Given the description of an element on the screen output the (x, y) to click on. 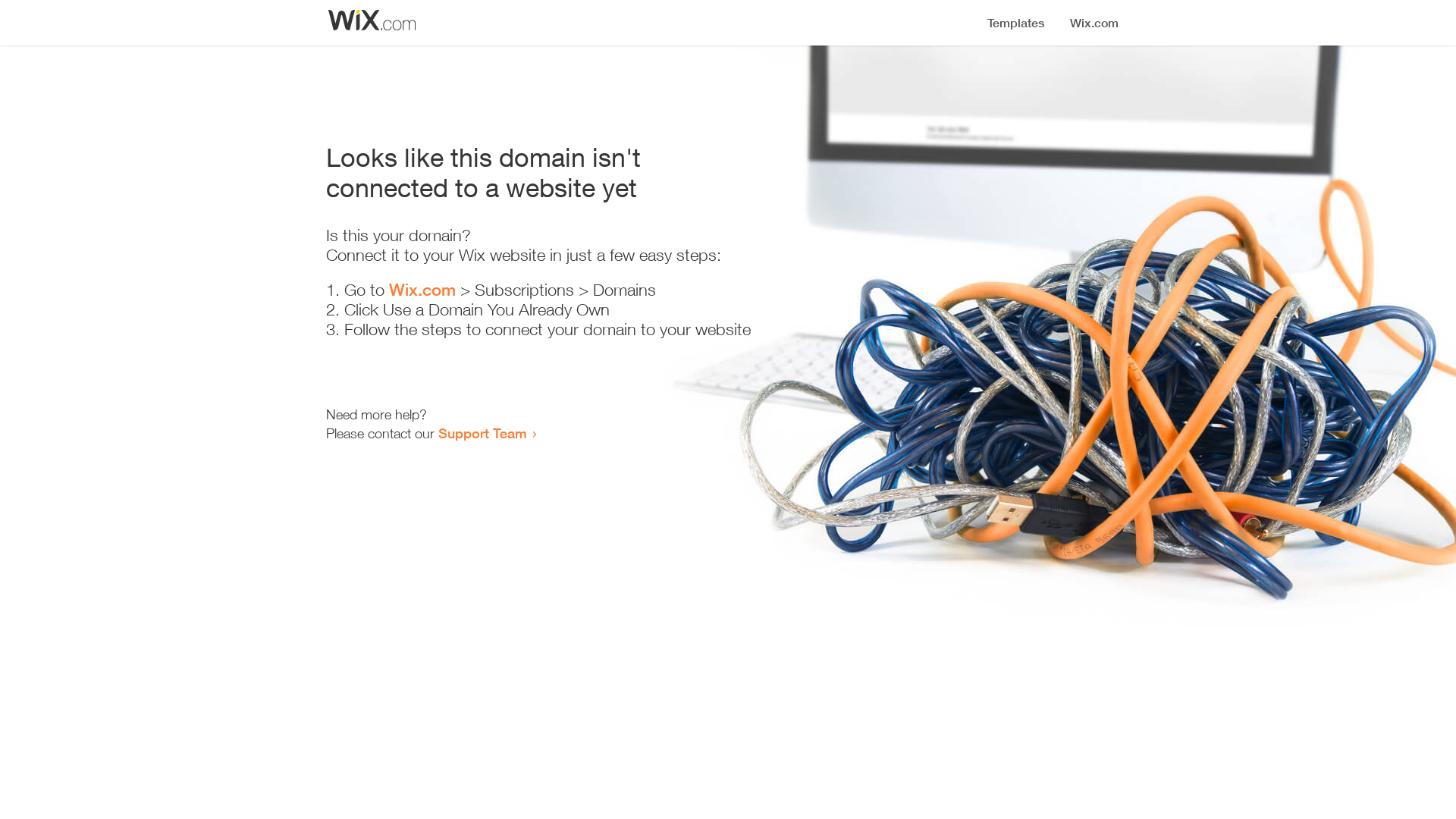
Support Team Element type: text (482, 432)
Wix.com Element type: text (422, 289)
